Given the description of an element on the screen output the (x, y) to click on. 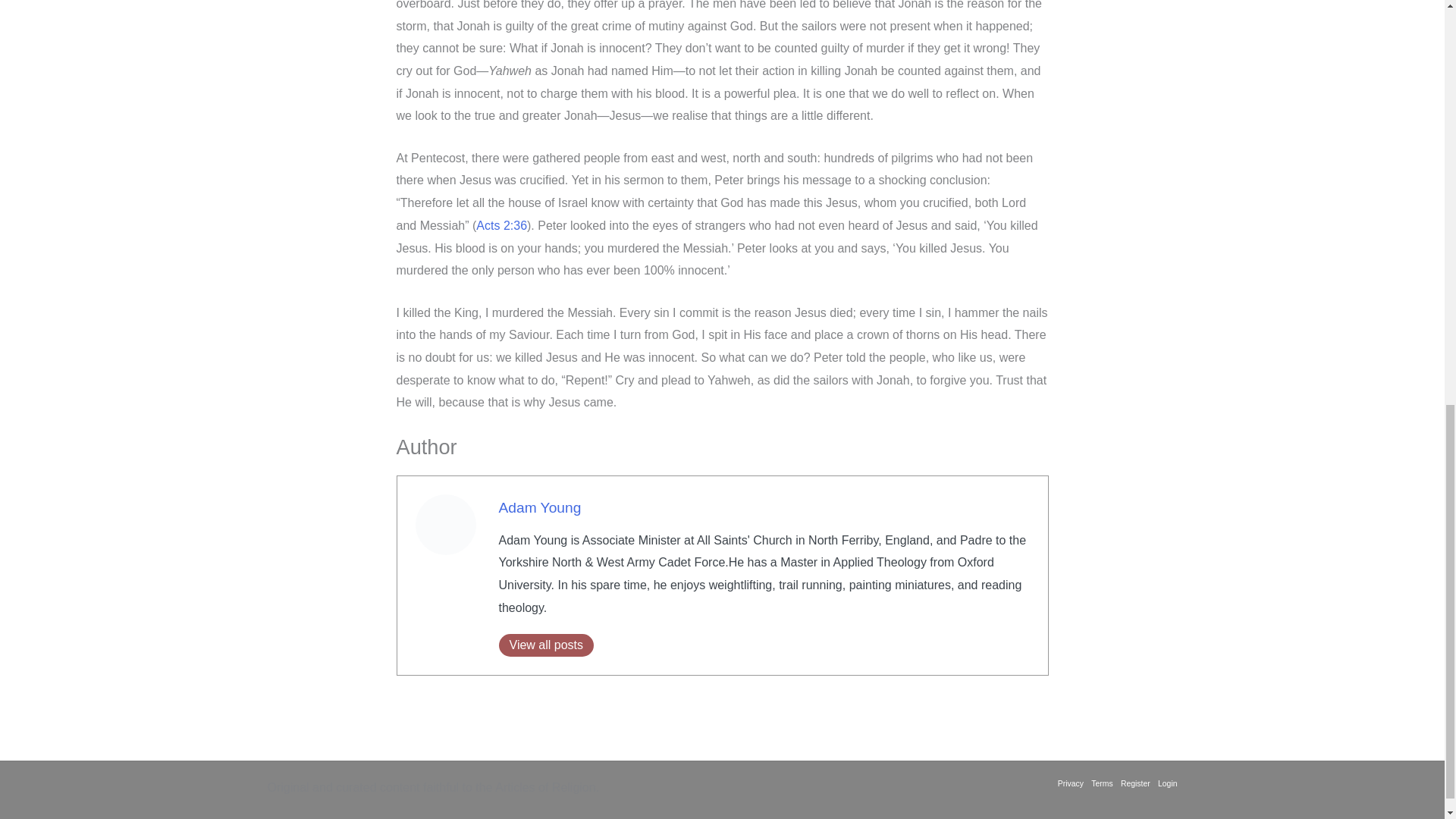
View all posts (546, 644)
View all posts (546, 644)
Adam Young (539, 507)
Privacy (1072, 783)
Acts 2:36 (501, 225)
Adam Young (539, 507)
